Given the description of an element on the screen output the (x, y) to click on. 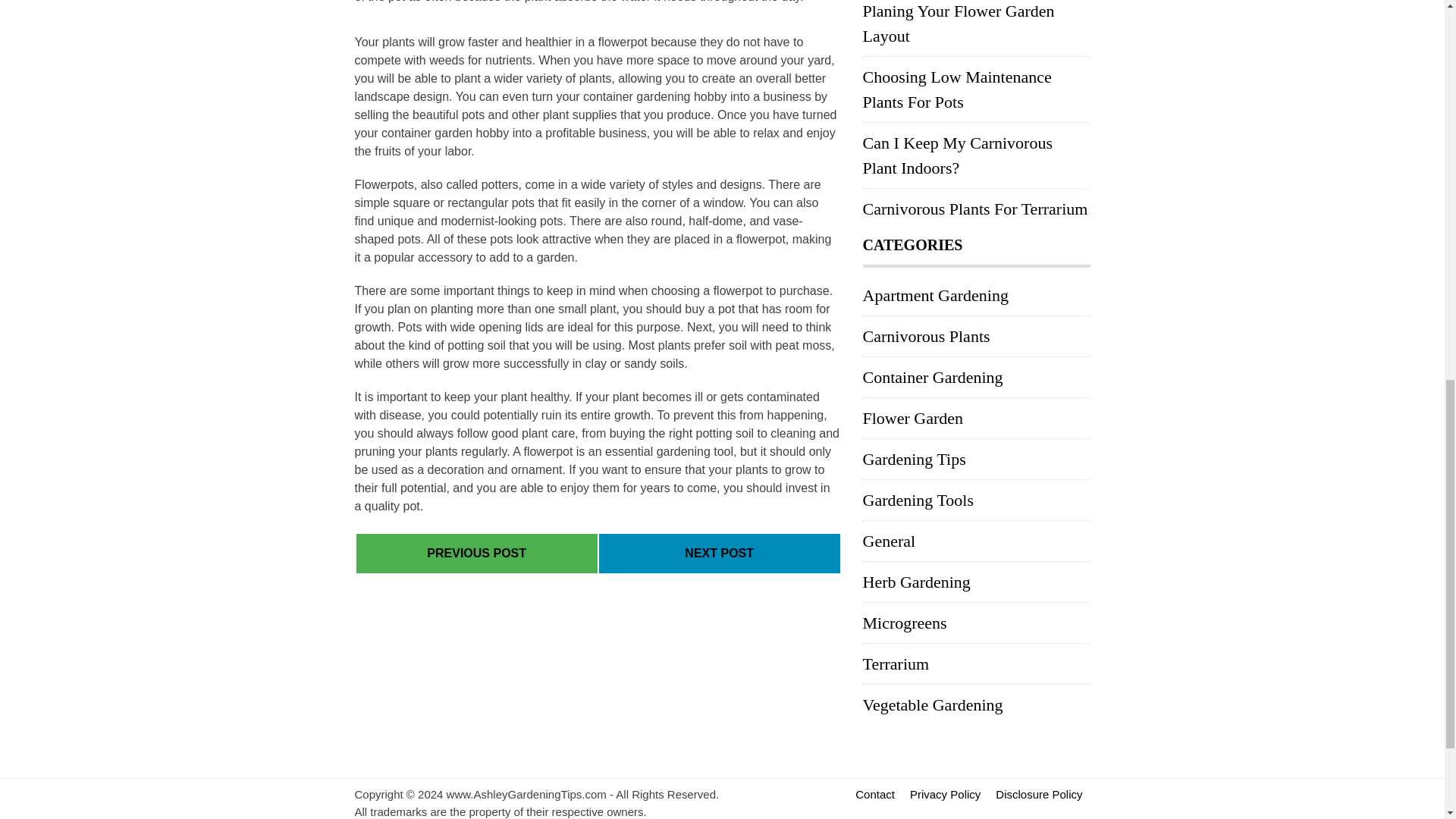
Privacy Policy (945, 794)
Container Gardening (933, 376)
Flower Garden (913, 417)
Why Does Apartment Gardens Quiet? (476, 553)
Microgreens (905, 622)
Contact (874, 794)
Can I Keep My Carnivorous Plant Indoors? (957, 155)
Gardening Tips (914, 458)
PREVIOUS POST (476, 553)
Planing Your Flower Garden Layout (958, 23)
